Given the description of an element on the screen output the (x, y) to click on. 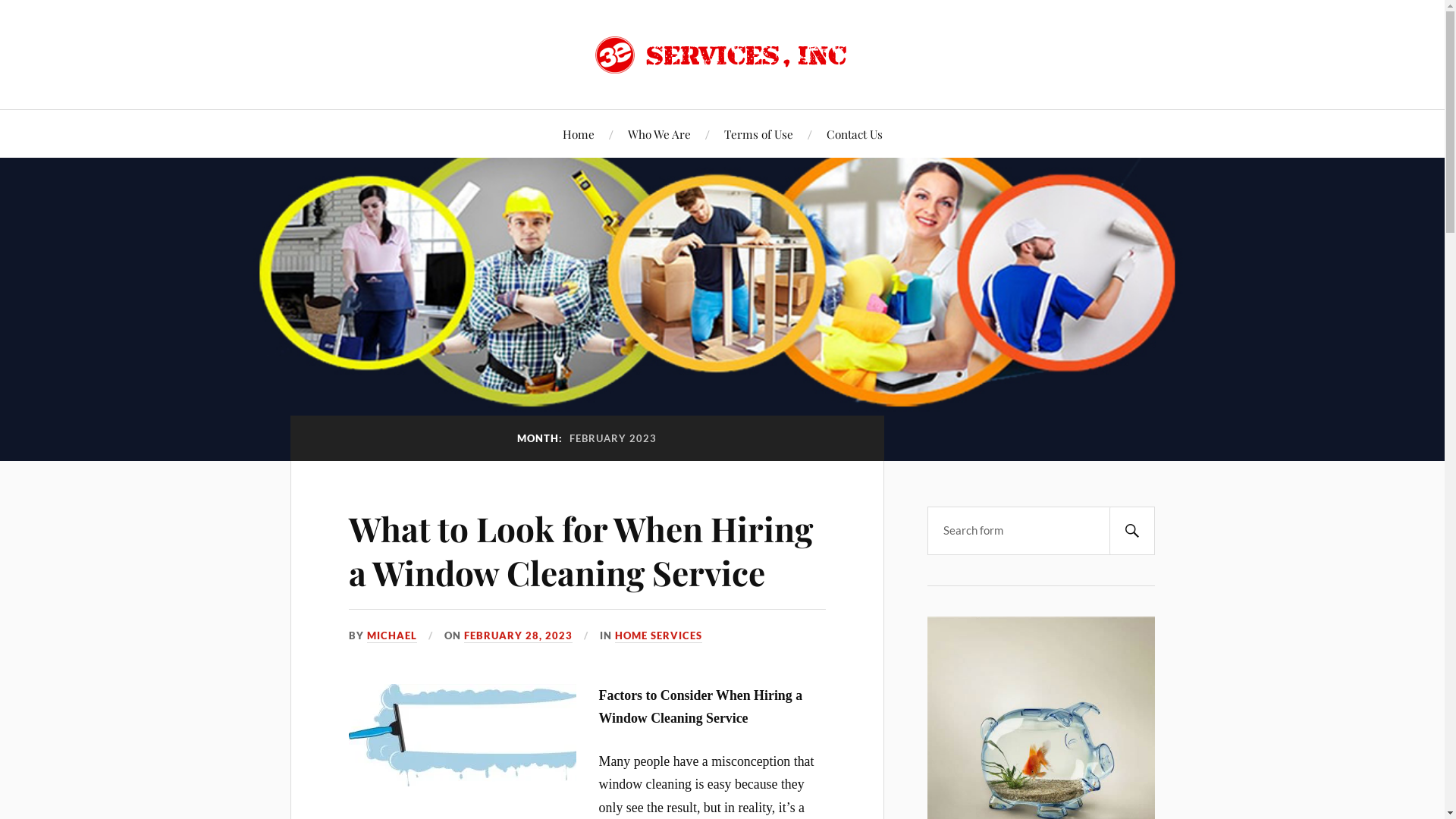
What to Look for When Hiring a Window Cleaning Service Element type: text (580, 549)
HOME SERVICES Element type: text (658, 636)
Terms of Use Element type: text (757, 133)
Contact Us Element type: text (854, 133)
Home Element type: text (578, 133)
MICHAEL Element type: text (392, 636)
Who We Are Element type: text (658, 133)
FEBRUARY 28, 2023 Element type: text (518, 636)
